Given the description of an element on the screen output the (x, y) to click on. 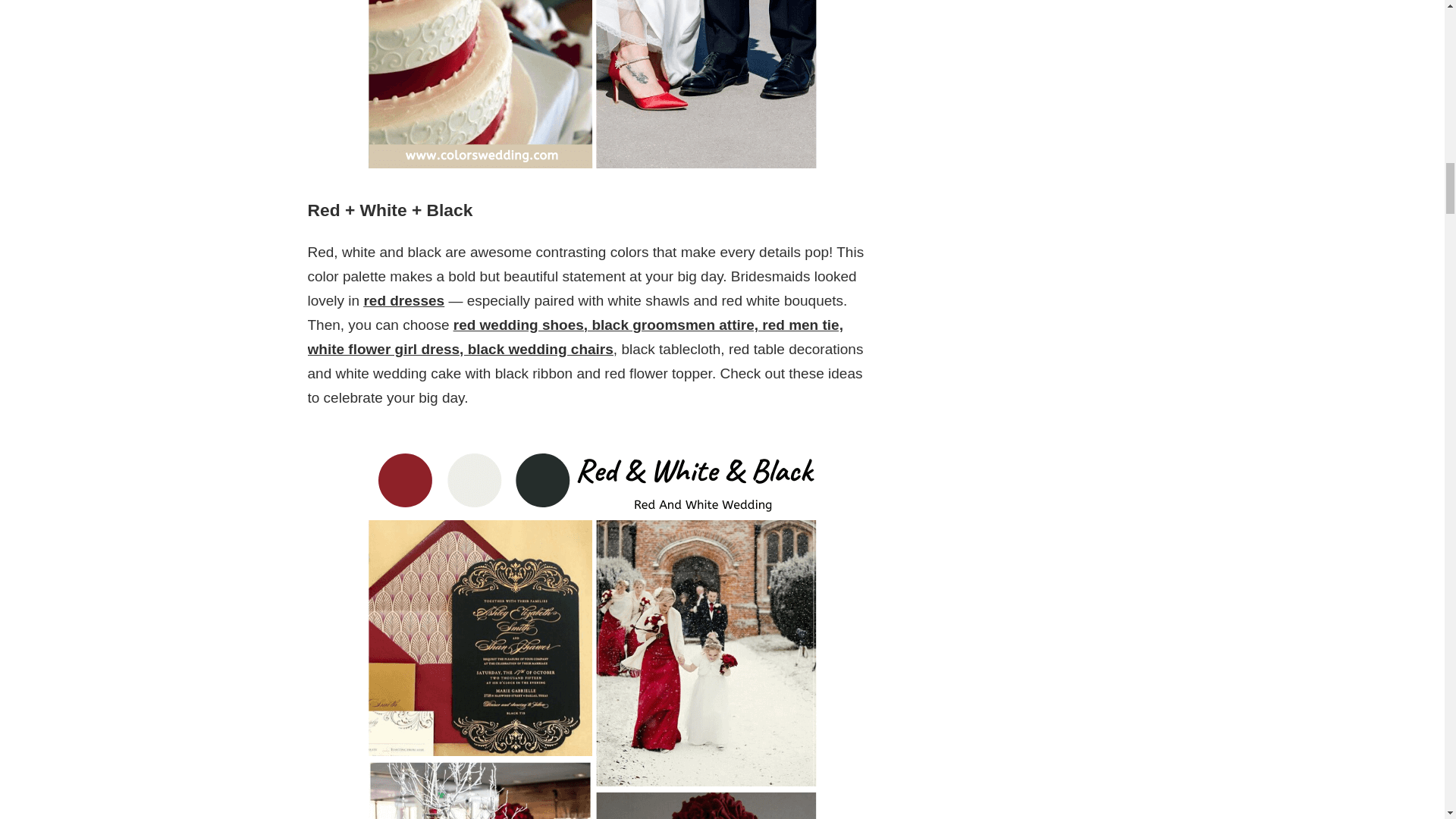
red dresses (403, 300)
